Given the description of an element on the screen output the (x, y) to click on. 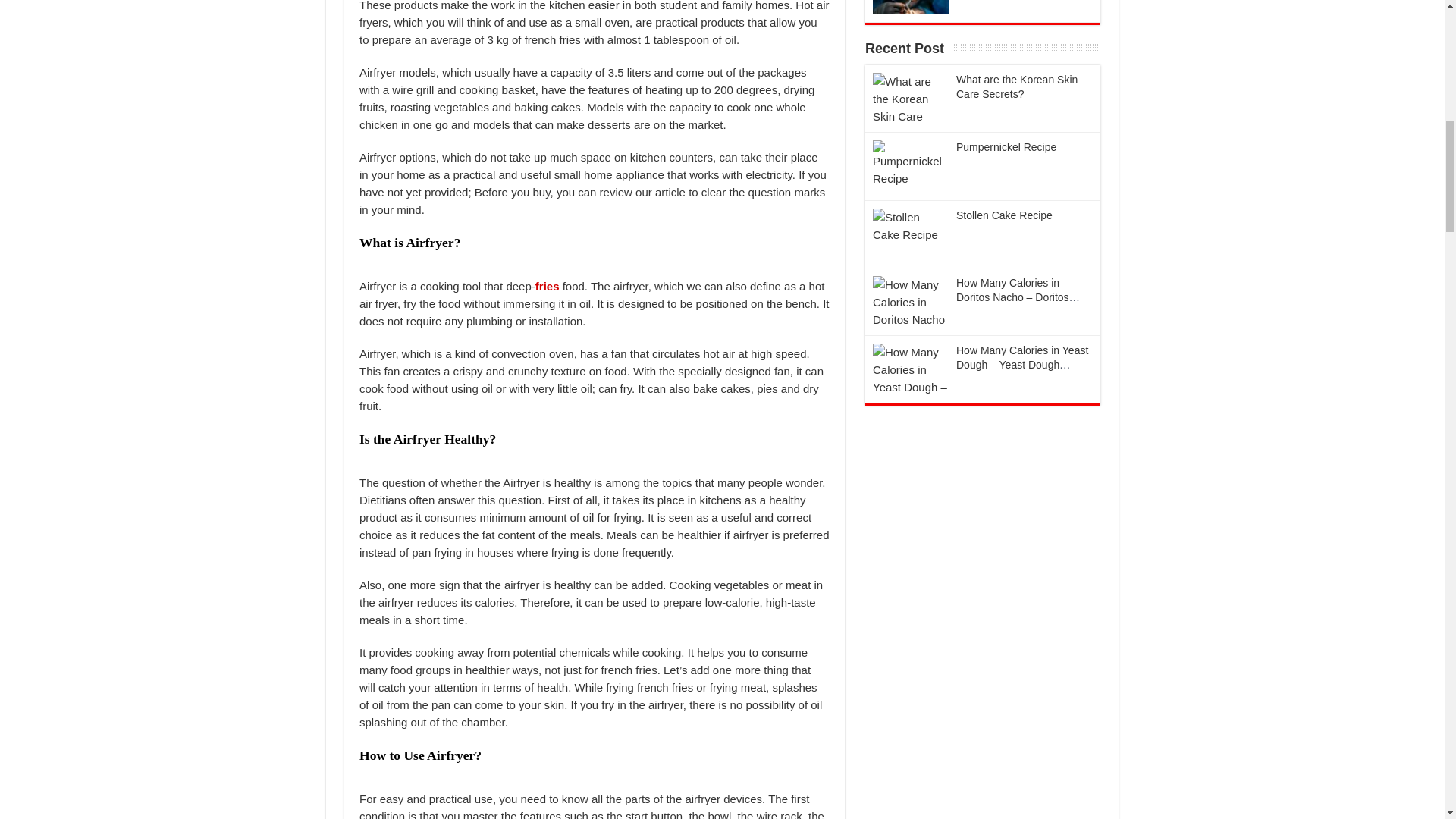
fries (548, 286)
